Given the description of an element on the screen output the (x, y) to click on. 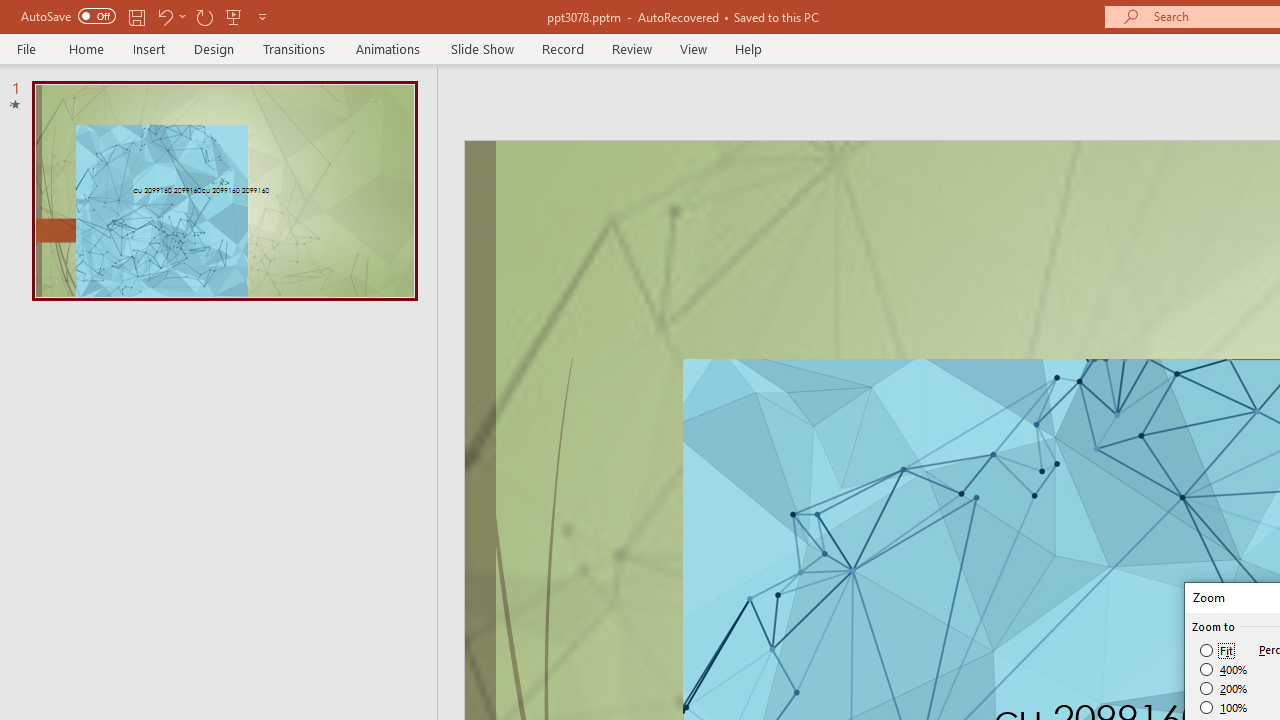
200% (1224, 688)
400% (1224, 669)
100% (1224, 707)
